Given the description of an element on the screen output the (x, y) to click on. 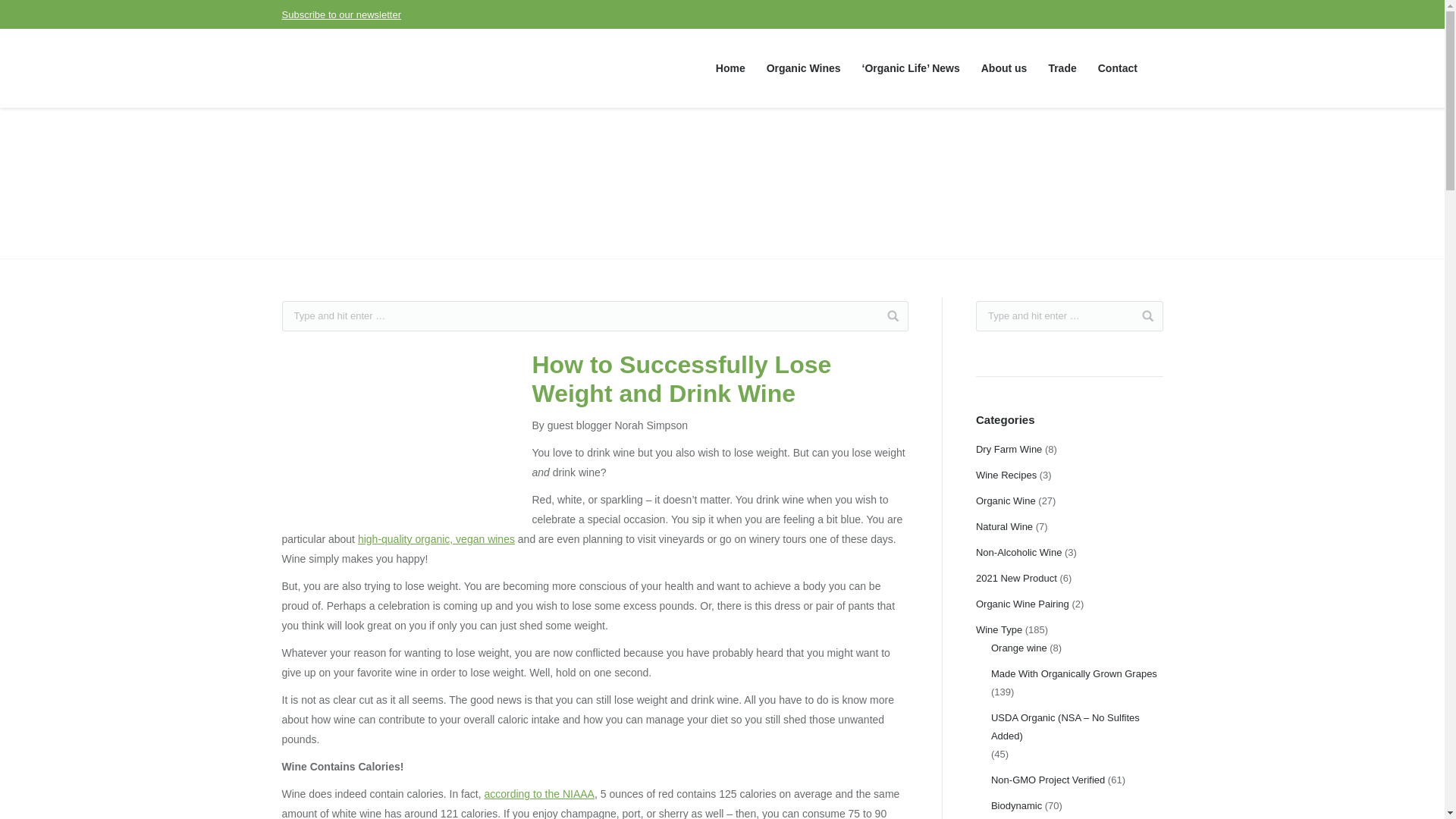
Subscribe to our newsletter (341, 14)
Go! (586, 316)
Go! (1142, 316)
Go! (1142, 316)
Subscribe to our newsletter (341, 14)
Organic Wines (804, 67)
Go! (586, 316)
